Given the description of an element on the screen output the (x, y) to click on. 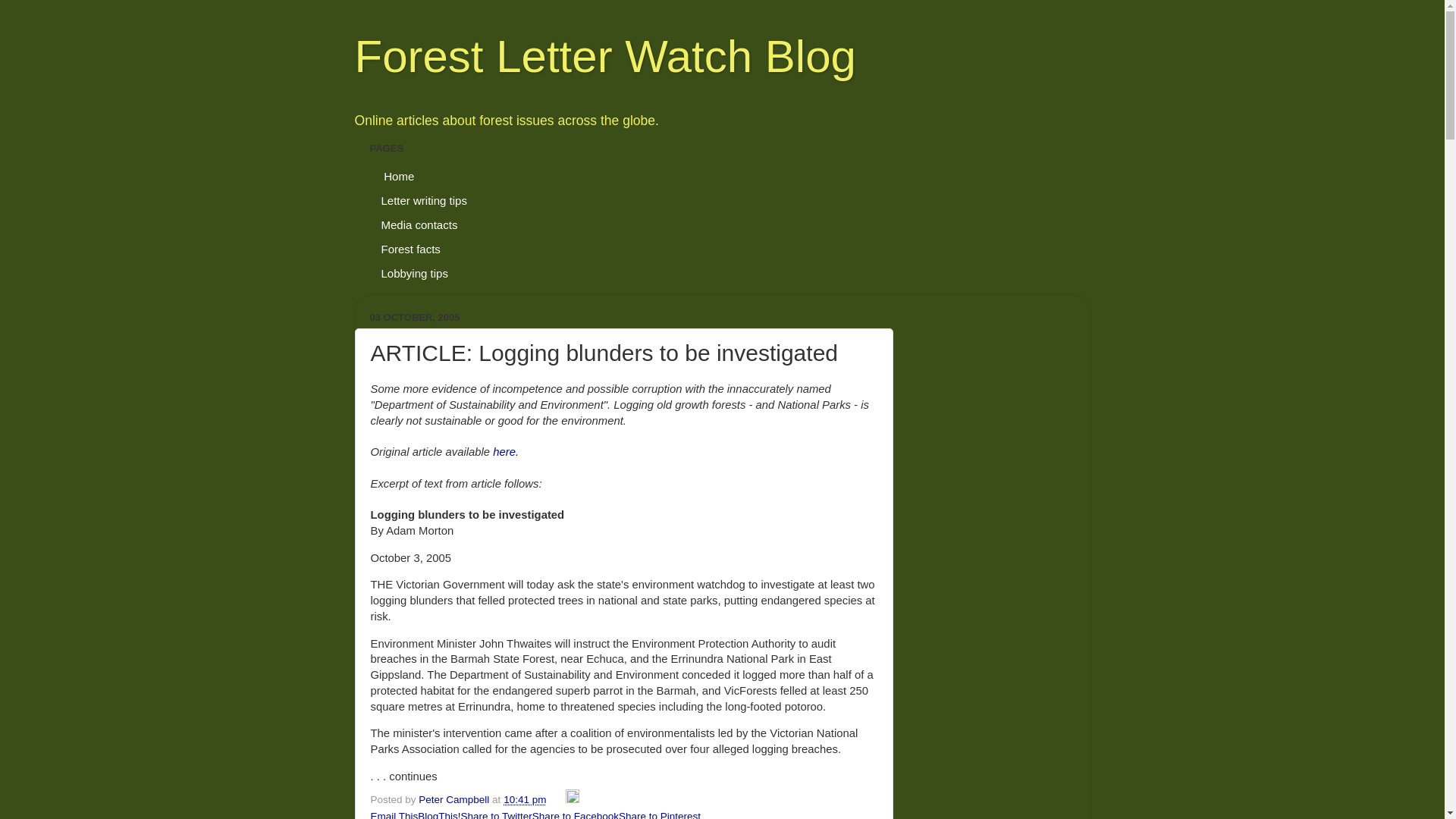
Forest Letter Watch Blog (605, 56)
Media contacts (419, 224)
Email This (393, 814)
Share to Facebook (575, 814)
here. (505, 451)
Lobbying tips (414, 273)
Share to Pinterest (659, 814)
author profile (455, 799)
Email This (393, 814)
Edit Post (572, 799)
Forest facts (410, 248)
Share to Twitter (496, 814)
Share to Twitter (496, 814)
Email Post (557, 799)
BlogThis! (438, 814)
